Given the description of an element on the screen output the (x, y) to click on. 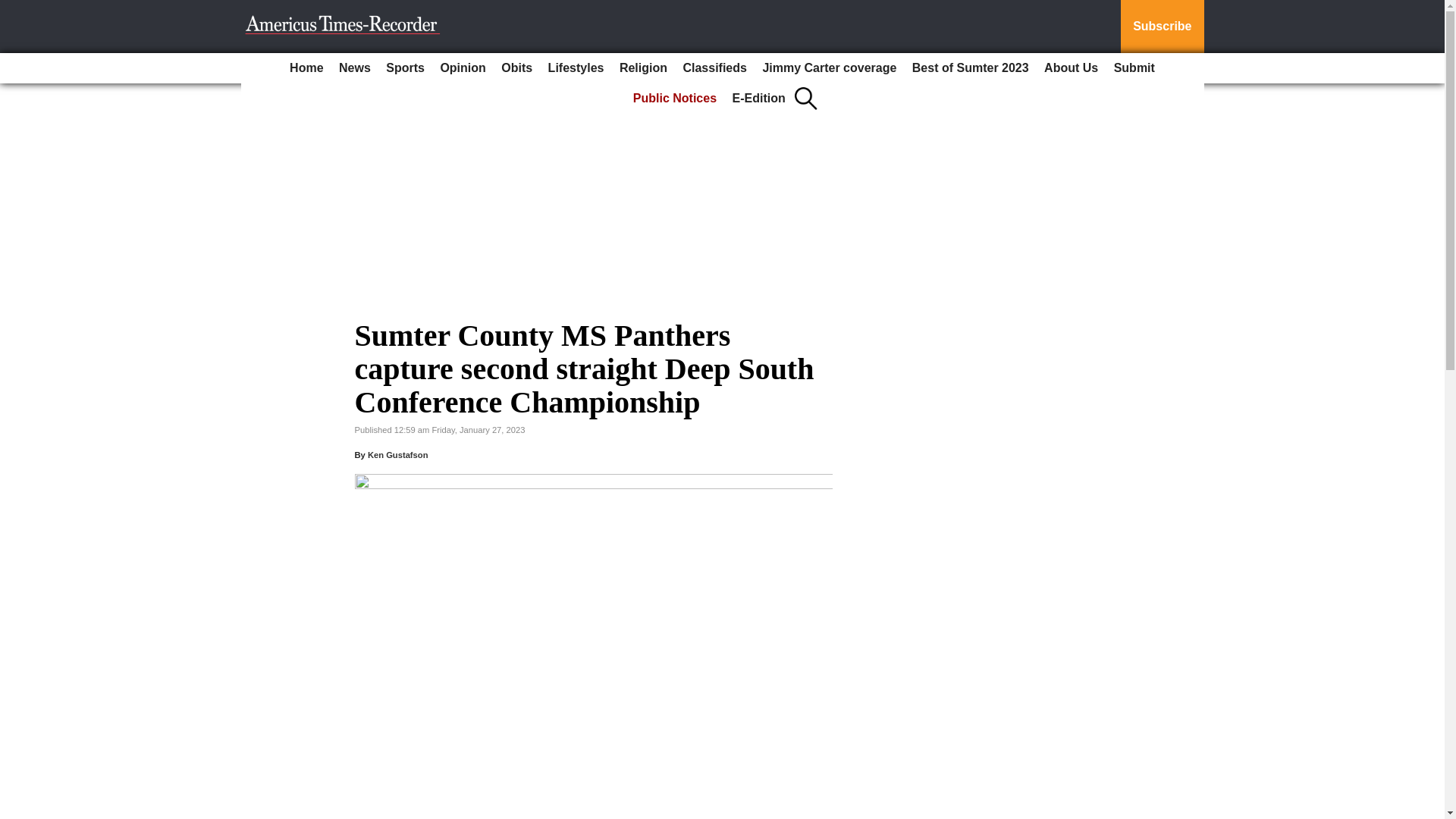
E-Edition (759, 98)
News (355, 68)
Go (13, 9)
Subscribe (1162, 26)
Submit (1134, 68)
Jimmy Carter coverage (828, 68)
Home (306, 68)
Obits (516, 68)
Sports (405, 68)
Public Notices (674, 98)
About Us (1070, 68)
Opinion (462, 68)
Ken Gustafson (398, 454)
Best of Sumter 2023 (970, 68)
Classifieds (714, 68)
